Given the description of an element on the screen output the (x, y) to click on. 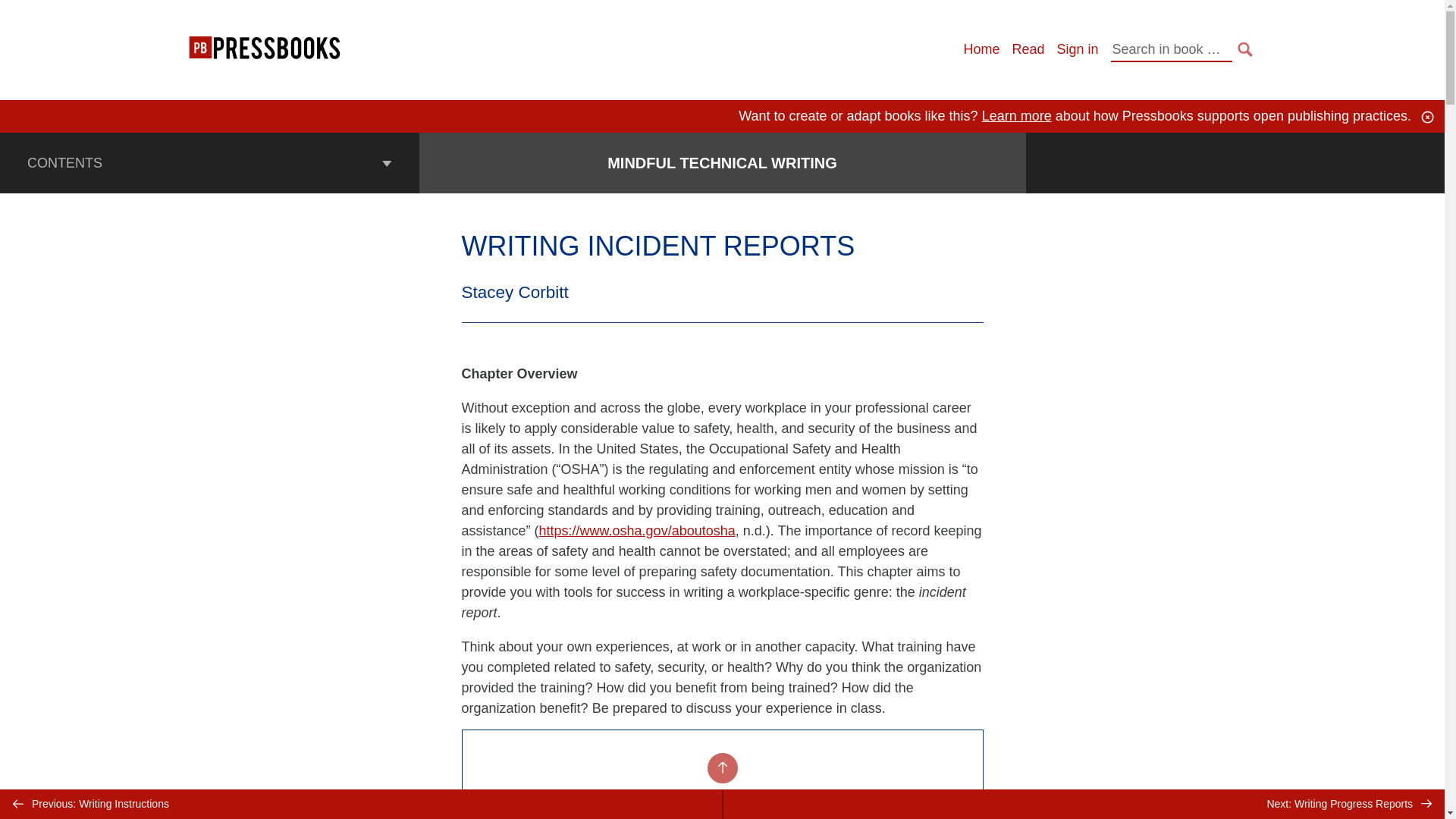
Sign in (1077, 48)
Previous: Writing Instructions (361, 804)
Read (1027, 48)
BACK TO TOP (721, 767)
Home (980, 48)
Previous: Writing Instructions (361, 804)
MINDFUL TECHNICAL WRITING (722, 162)
Learn more (1016, 115)
CONTENTS (209, 162)
